Given the description of an element on the screen output the (x, y) to click on. 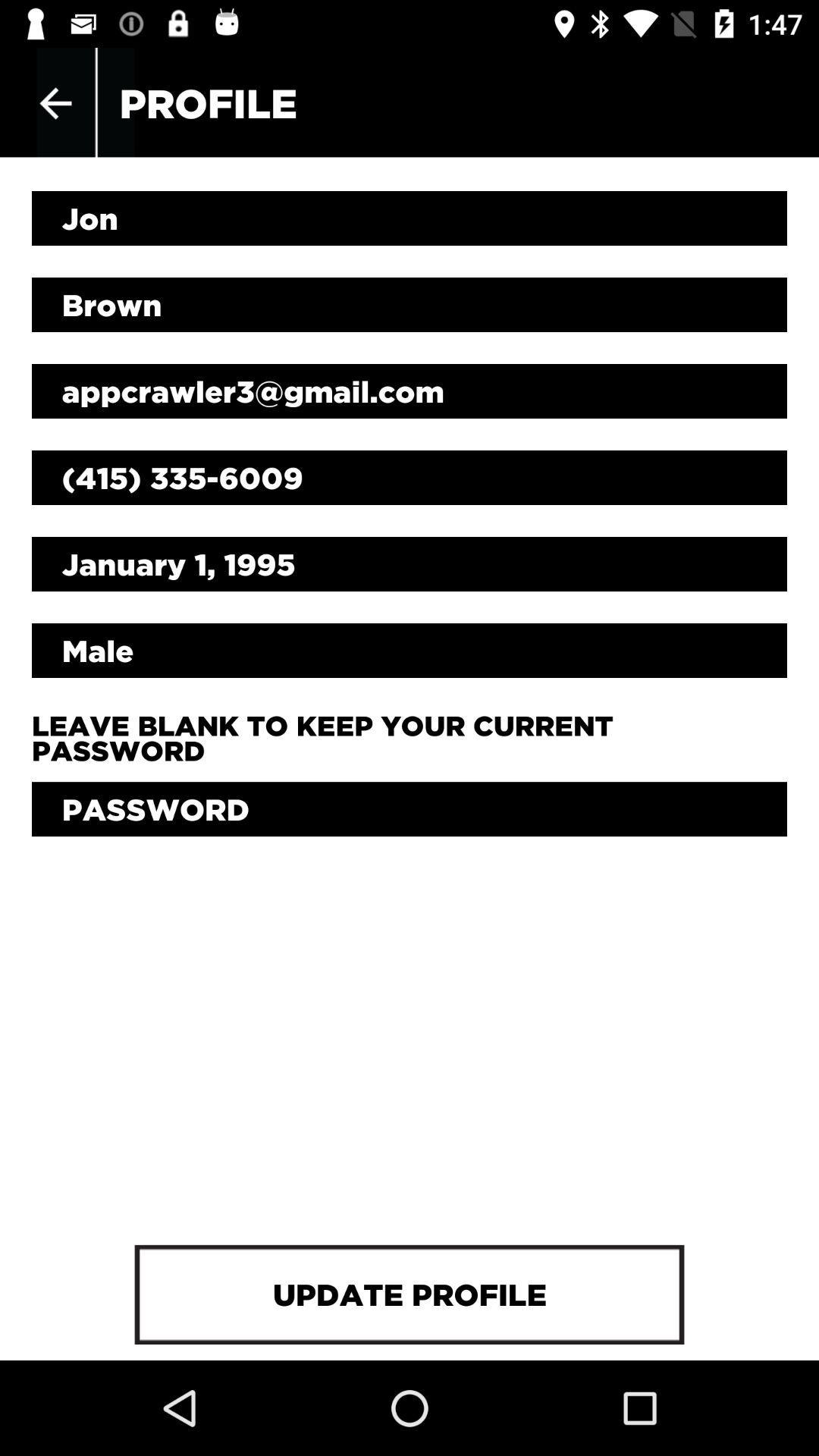
turn off item above appcrawler3@gmail.com icon (409, 304)
